Given the description of an element on the screen output the (x, y) to click on. 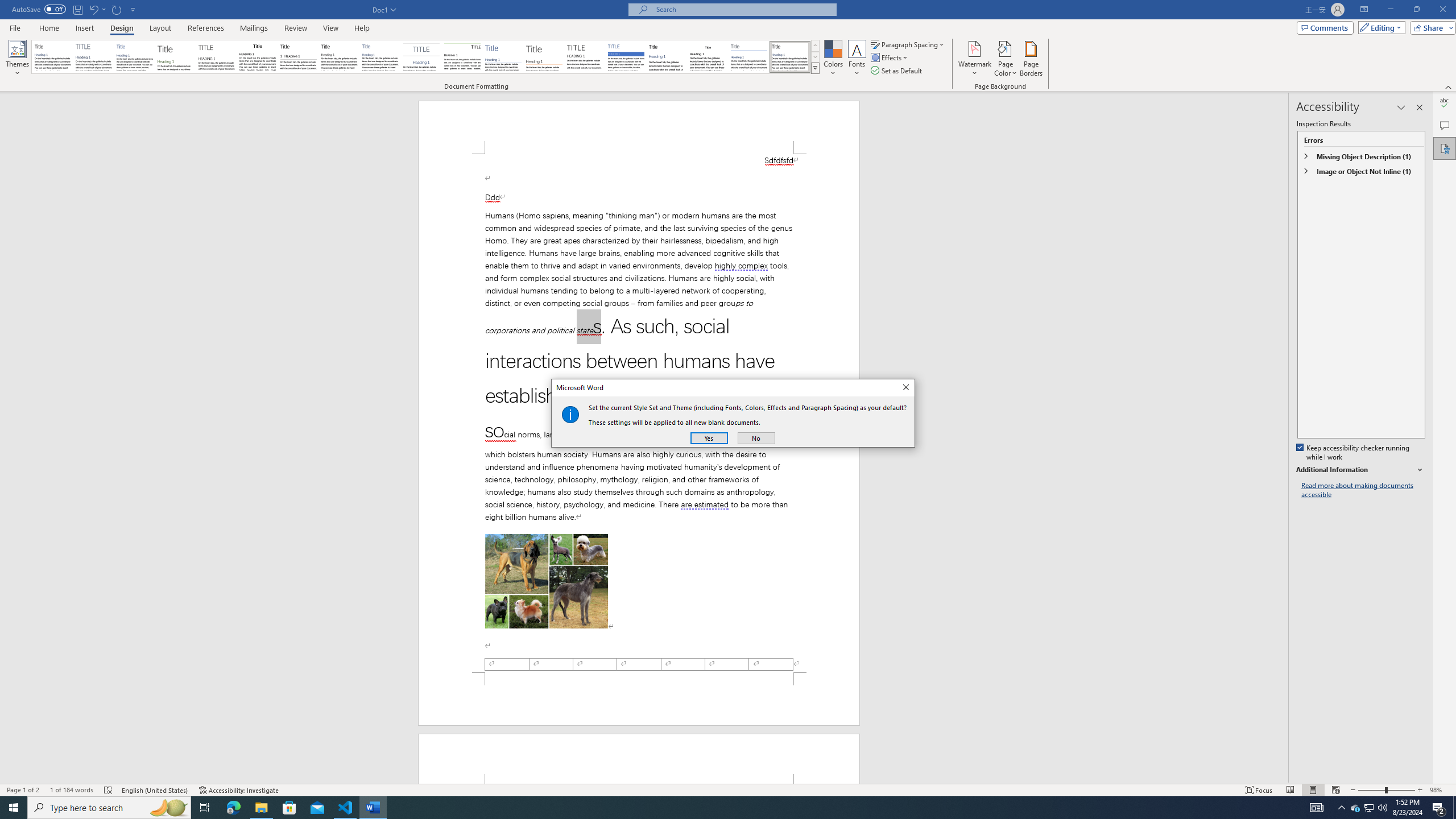
Class: Static (570, 414)
AutomationID: QuickStylesSets (425, 56)
Lines (Stylish) (544, 56)
Word 2003 (707, 56)
Running applications (717, 807)
Basic (Elegant) (93, 56)
Word (666, 56)
Word 2013 (790, 56)
